Given the description of an element on the screen output the (x, y) to click on. 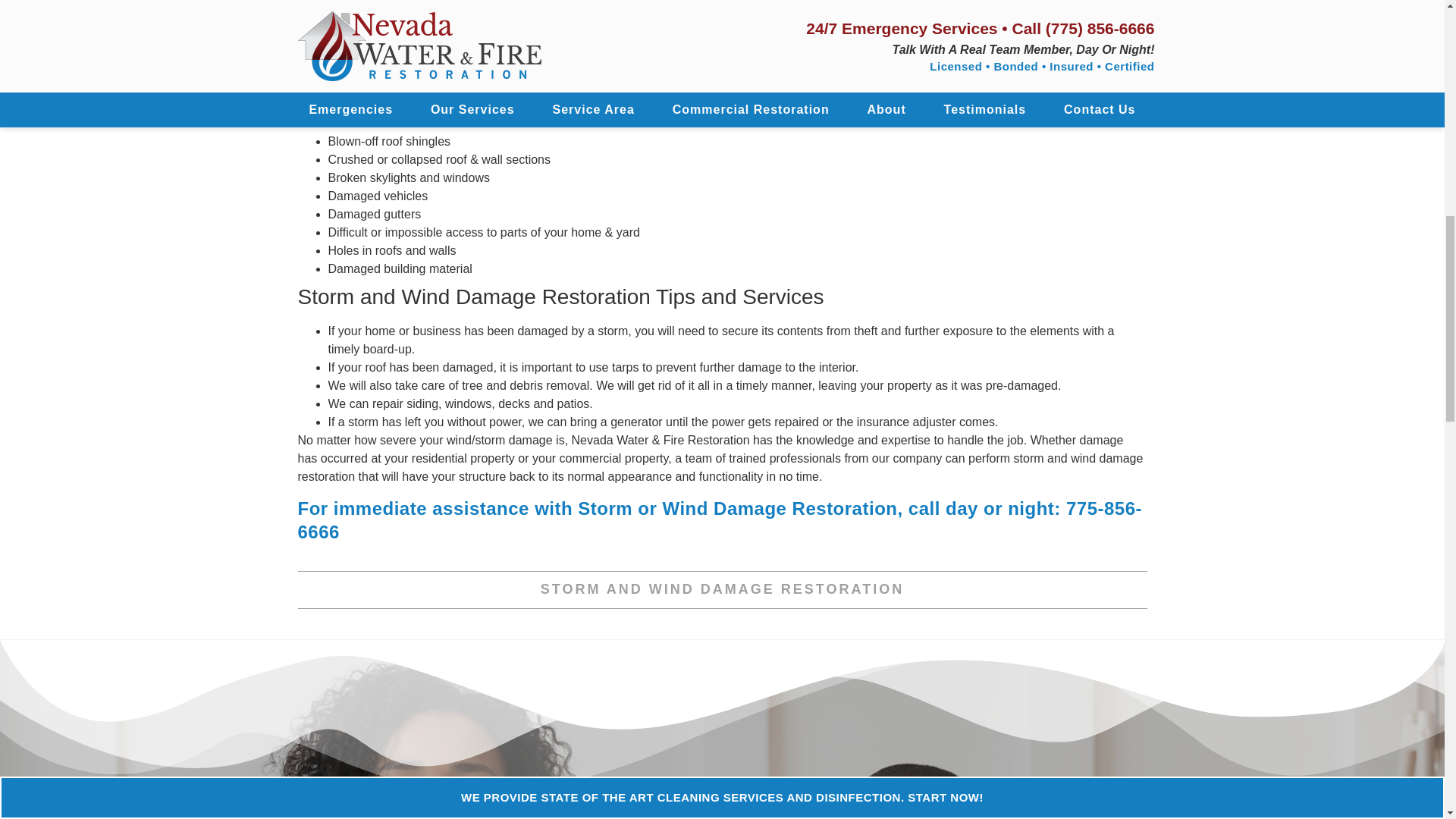
775-856-6666 (719, 519)
